Given the description of an element on the screen output the (x, y) to click on. 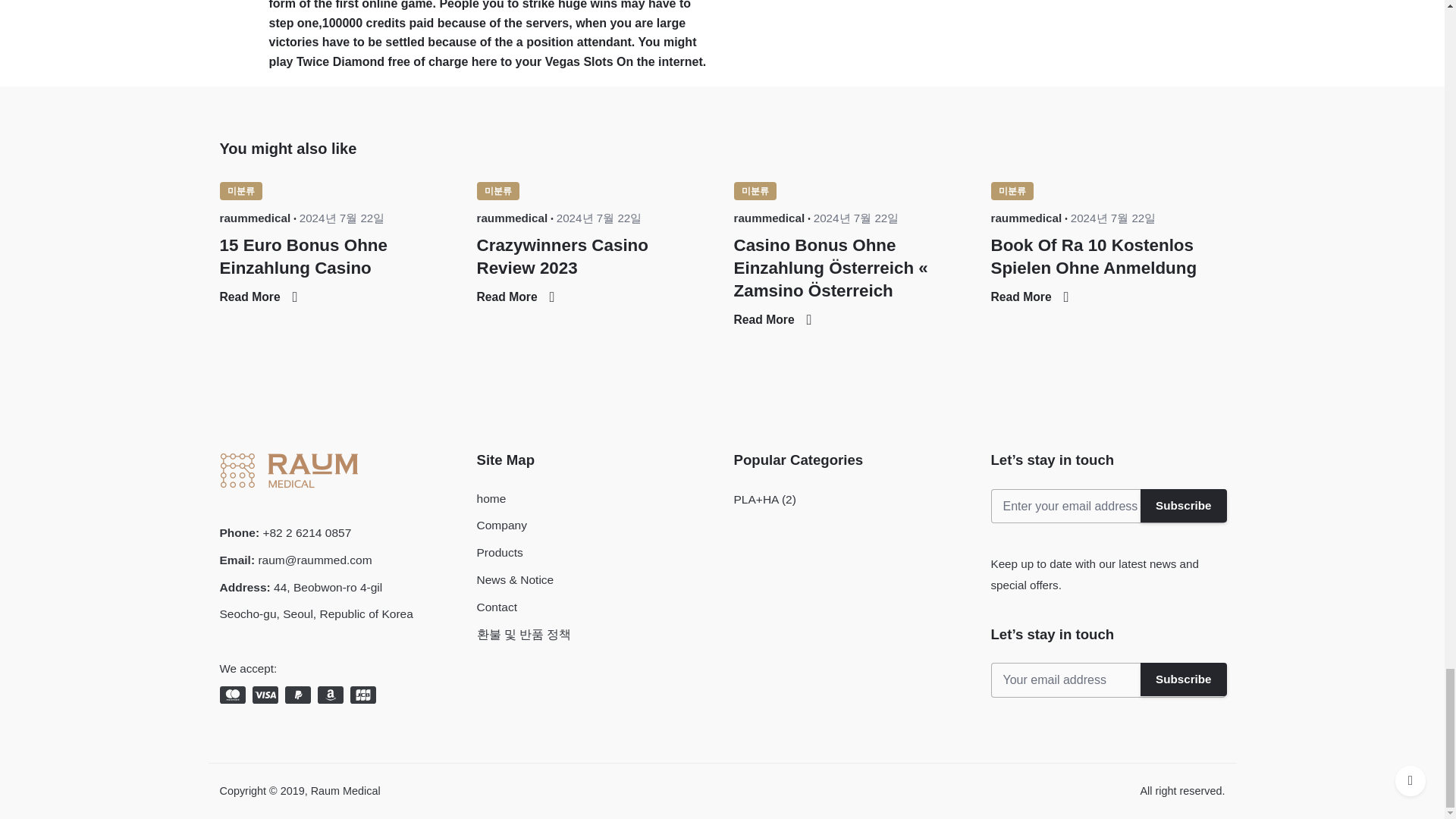
15 Euro Bonus Ohne Einzahlung Casino (303, 256)
